Given the description of an element on the screen output the (x, y) to click on. 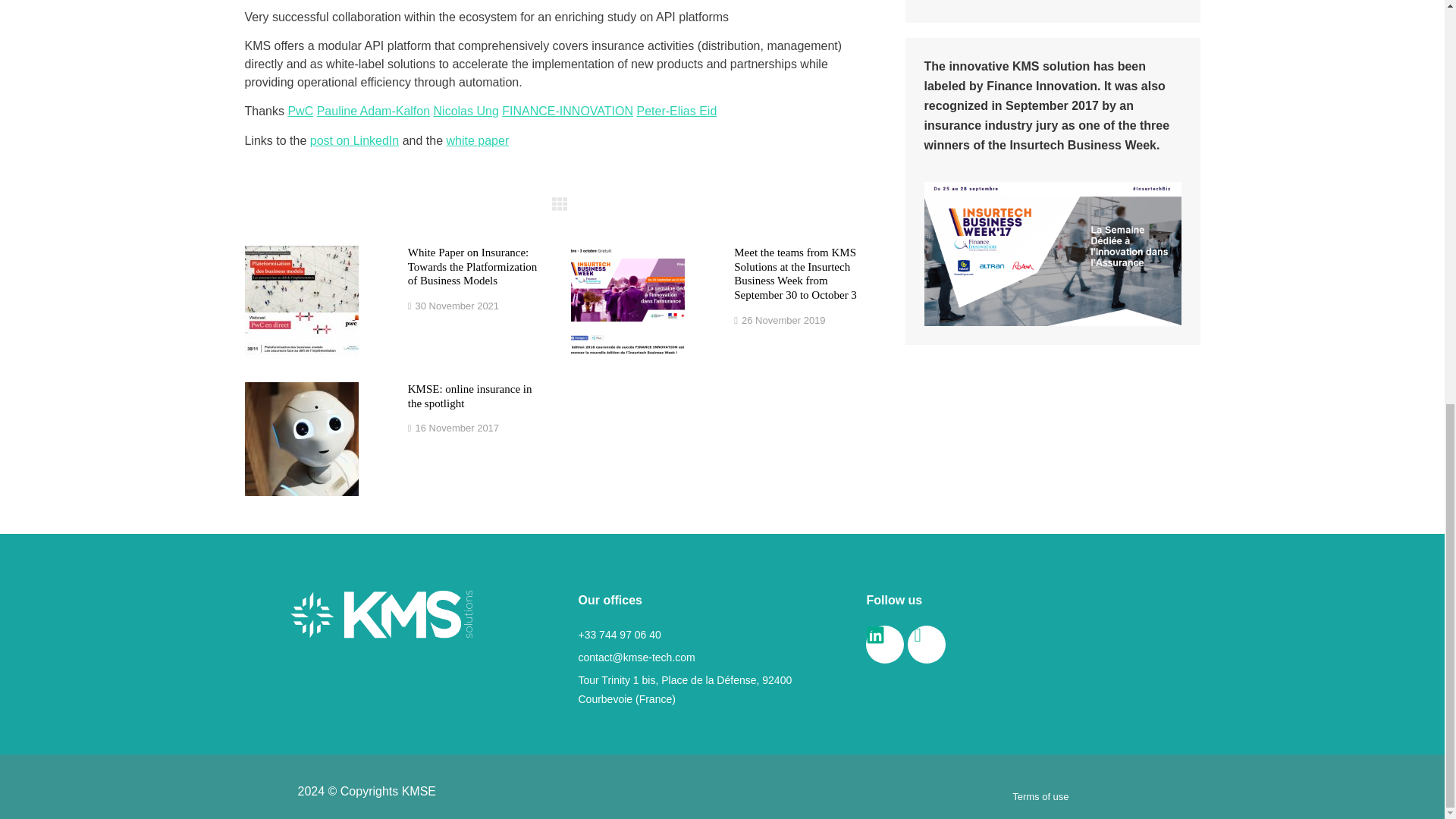
KMSE: online insurance in the spotlight (469, 396)
Nicolas Ung (466, 110)
Peter-Elias Eid (676, 110)
post on LinkedIn (354, 140)
FINANCE-INNOVATION (567, 110)
white paper (476, 140)
PwC (299, 110)
Pauline Adam-Kalfon (373, 110)
